Given the description of an element on the screen output the (x, y) to click on. 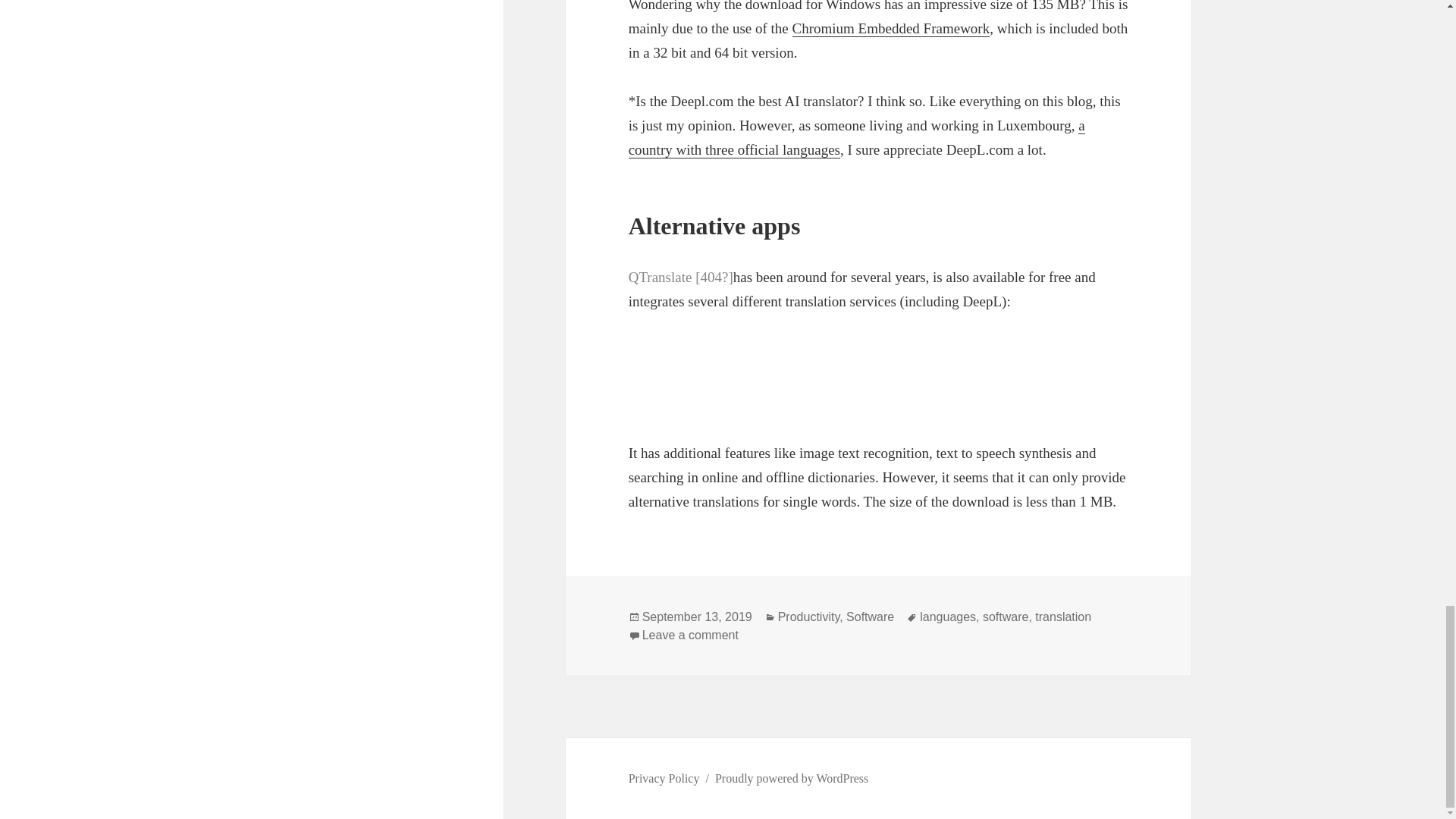
translation (1062, 617)
September 13, 2019 (697, 617)
Software (869, 617)
a country with three official languages (856, 137)
QTranslate (680, 277)
languages (947, 617)
Productivity (808, 617)
software (1004, 617)
Chromium Embedded Framework (891, 28)
